Given the description of an element on the screen output the (x, y) to click on. 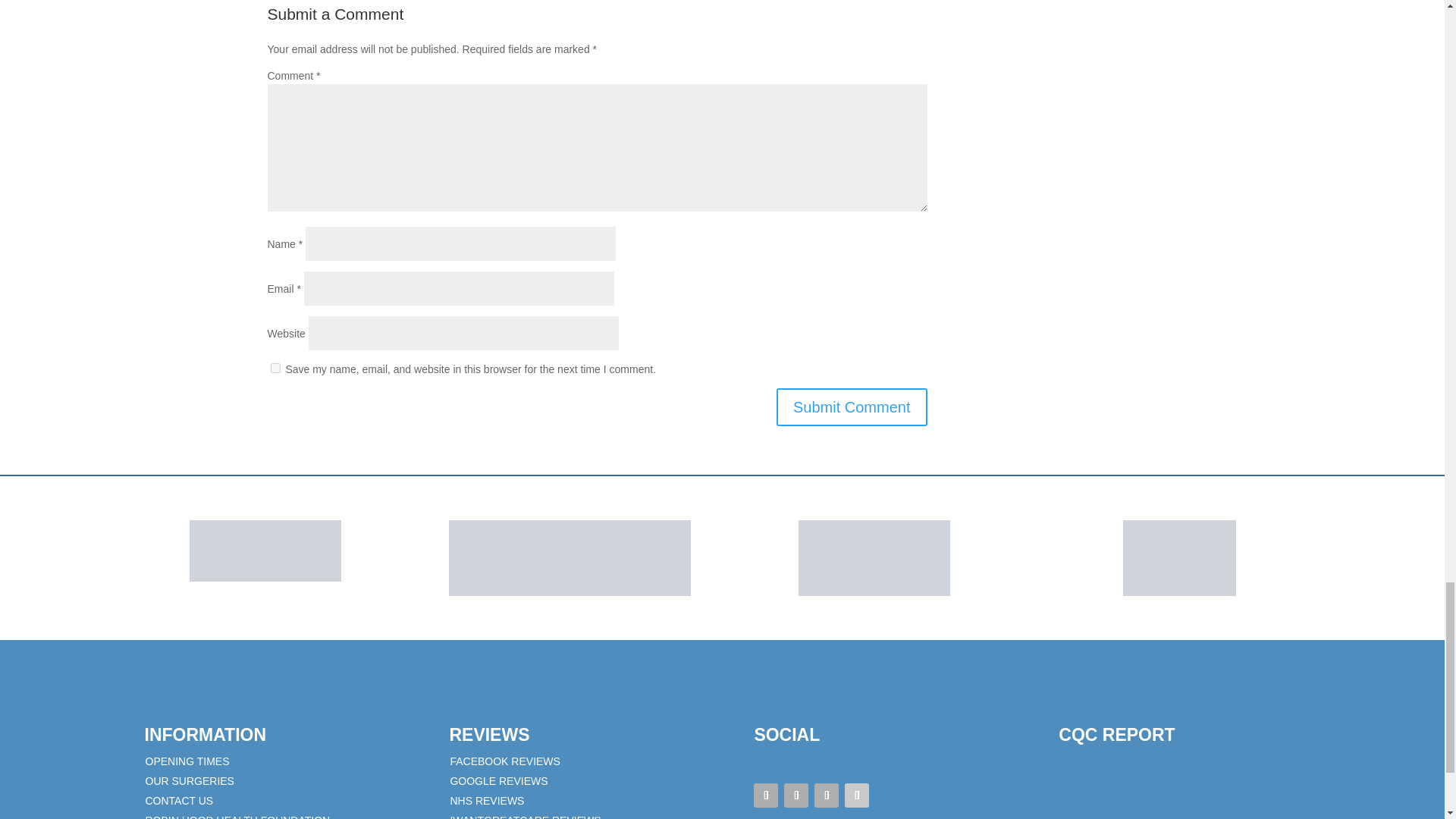
nhs (264, 550)
Submit Comment (851, 406)
Follow on X (796, 794)
Follow on LinkedIn (856, 794)
rhhf (873, 558)
Submit Comment (851, 406)
yes (274, 368)
Follow on Instagram (825, 794)
Follow on Facebook (765, 794)
